Given the description of an element on the screen output the (x, y) to click on. 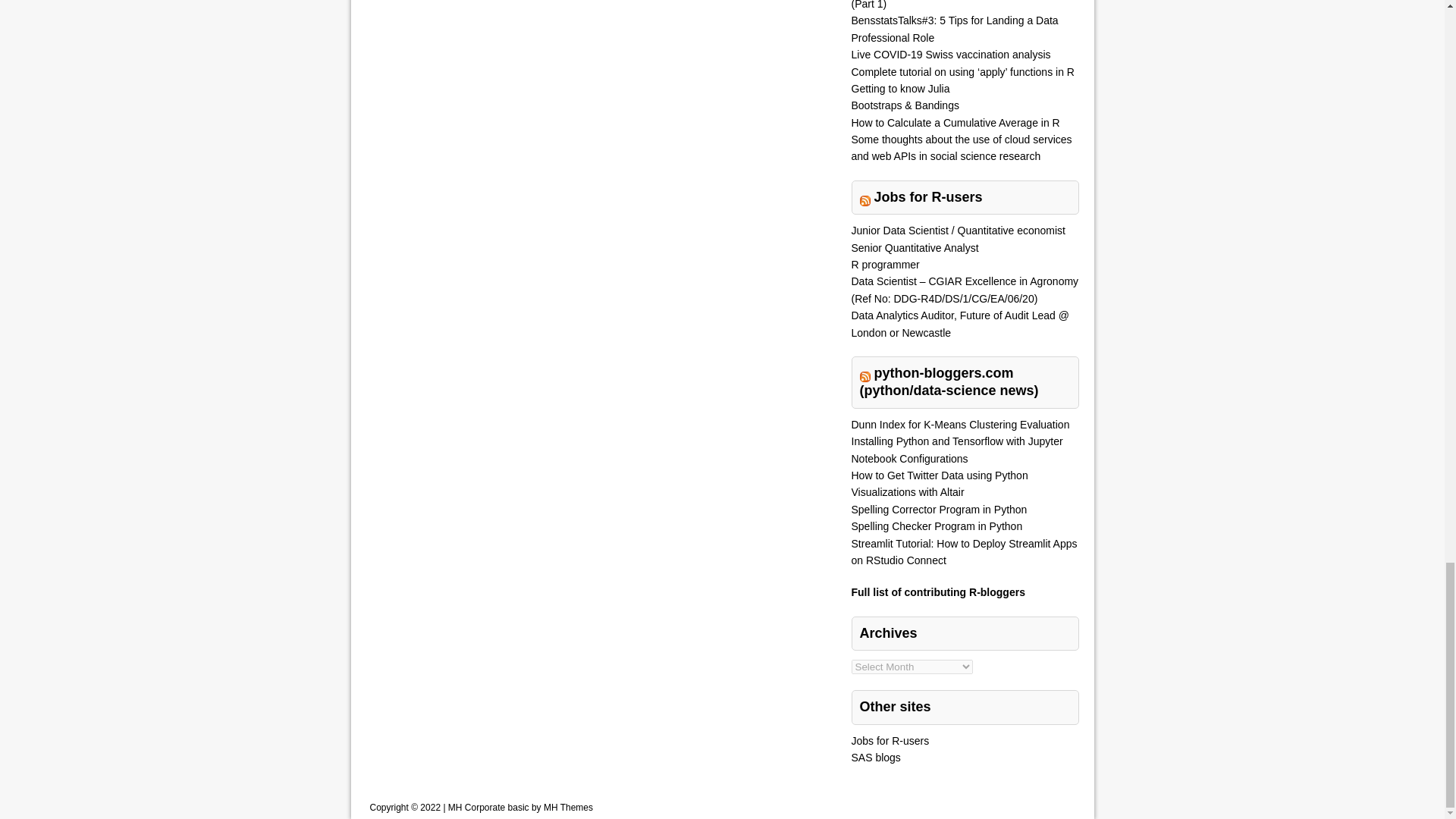
SAS news gathered from bloggers (874, 757)
